Given the description of an element on the screen output the (x, y) to click on. 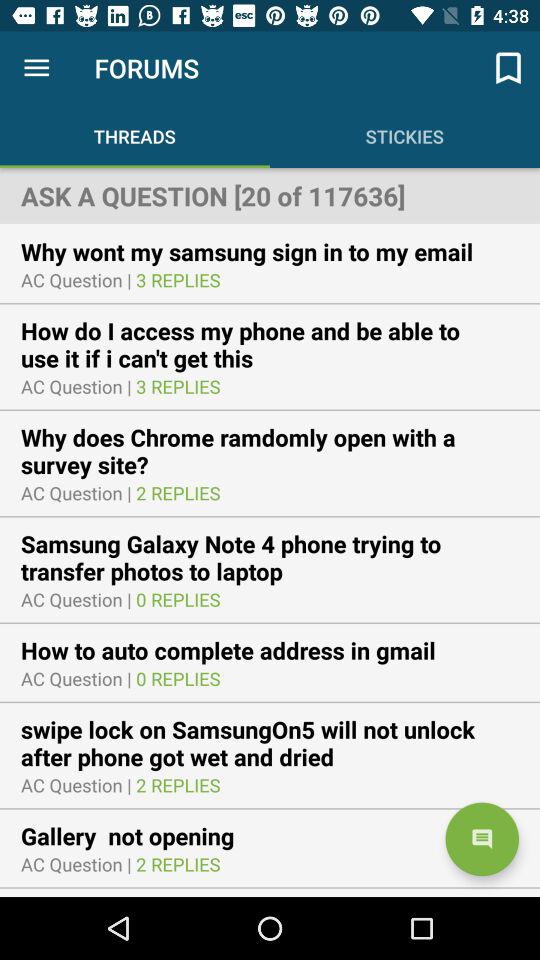
jump until gallery  not opening item (140, 835)
